Given the description of an element on the screen output the (x, y) to click on. 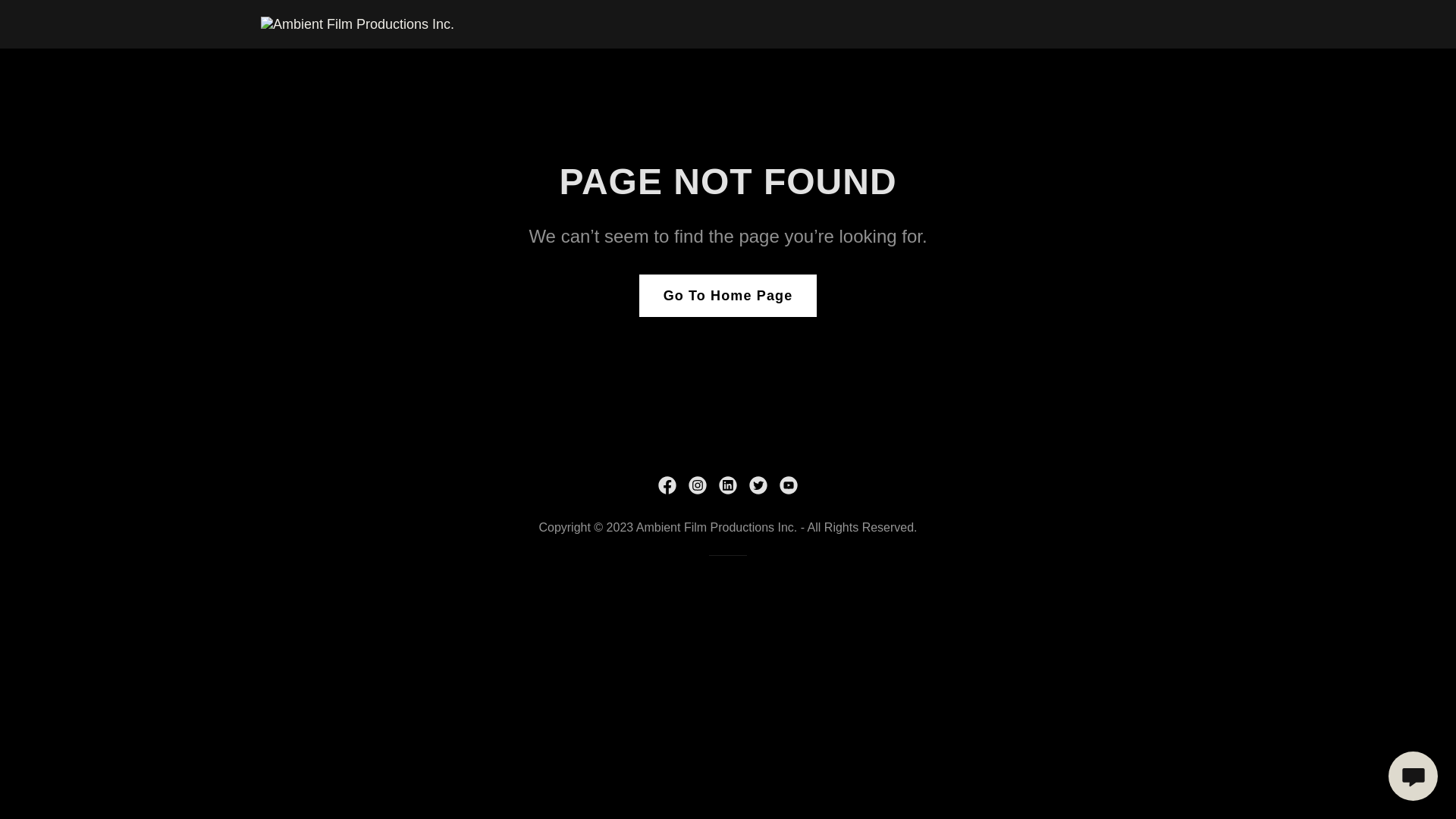
Go To Home Page Element type: text (728, 295)
Ambient Film Productions Inc. Element type: hover (357, 23)
